Given the description of an element on the screen output the (x, y) to click on. 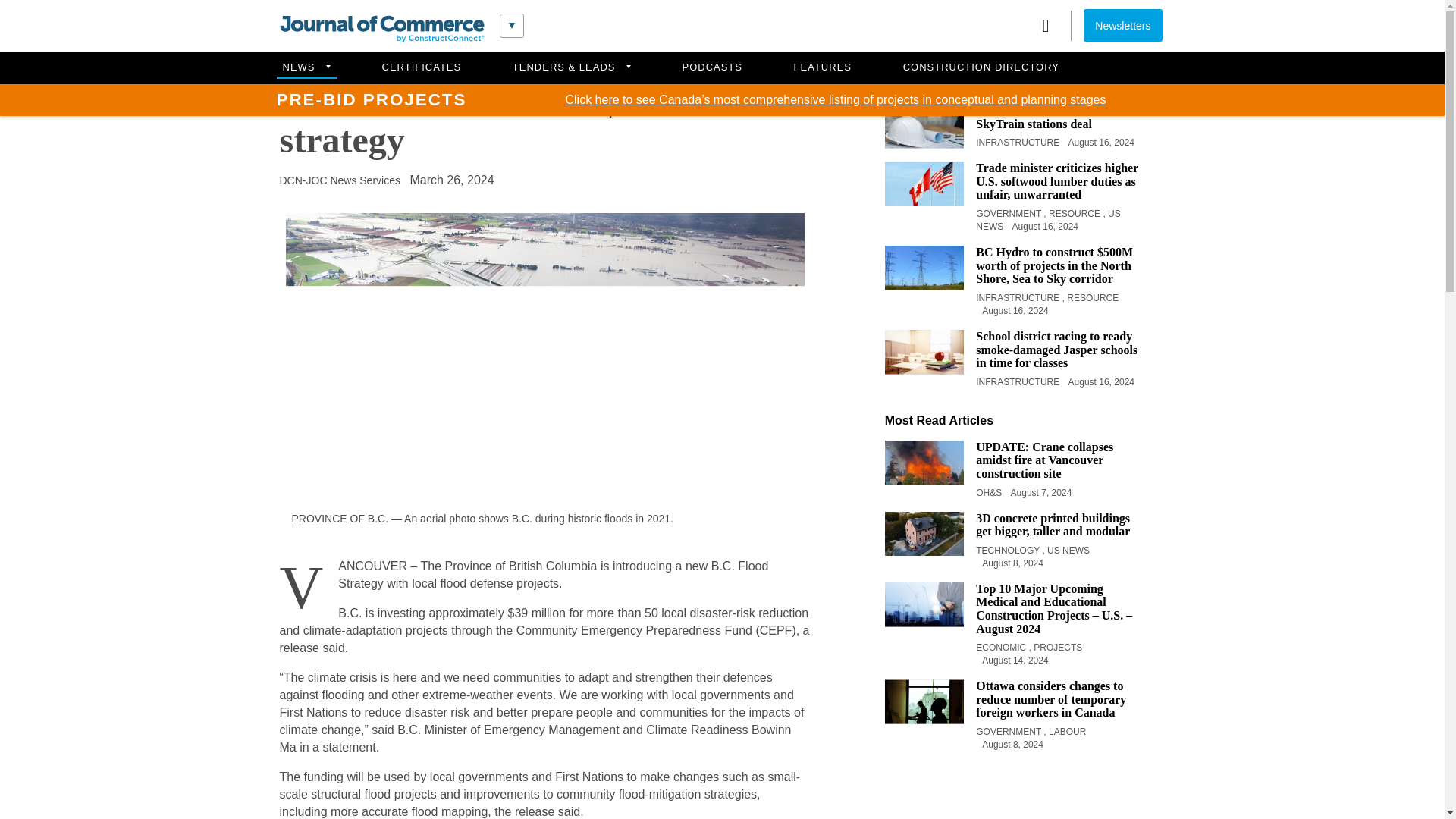
CERTIFICATES (422, 67)
View site list (511, 25)
Newsletters (1122, 25)
Certificates (422, 67)
CONSTRUCTION DIRECTORY (981, 67)
PODCASTS (712, 67)
FEATURES (823, 67)
Journal Of Commerce (381, 28)
Newsletters (1122, 25)
NEWS (305, 67)
